Given the description of an element on the screen output the (x, y) to click on. 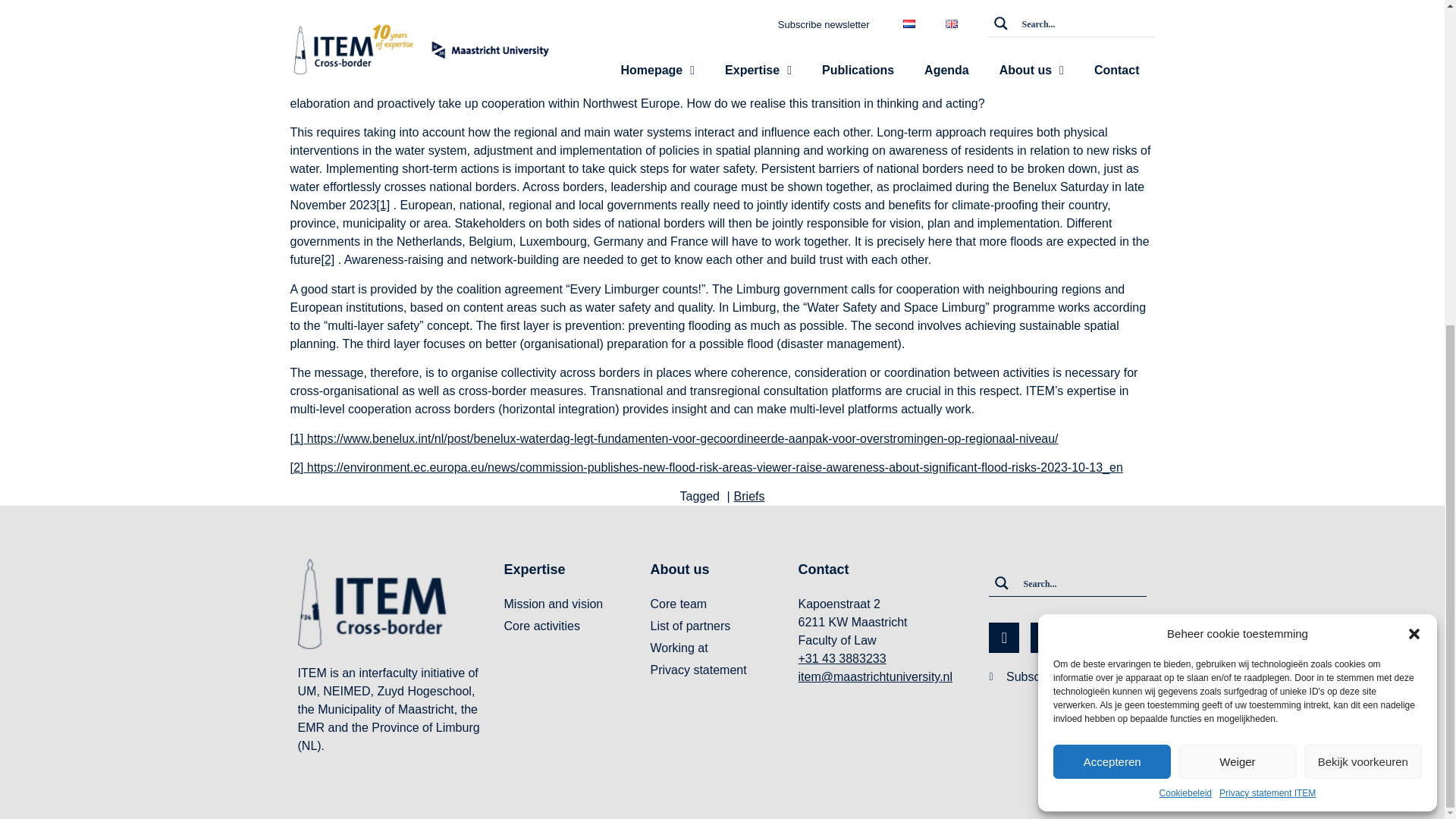
Accepteren (1111, 228)
Weiger (1236, 228)
Privacy statement ITEM (1268, 259)
Cookiebeleid (1184, 259)
Bekijk voorkeuren (1363, 228)
